Given the description of an element on the screen output the (x, y) to click on. 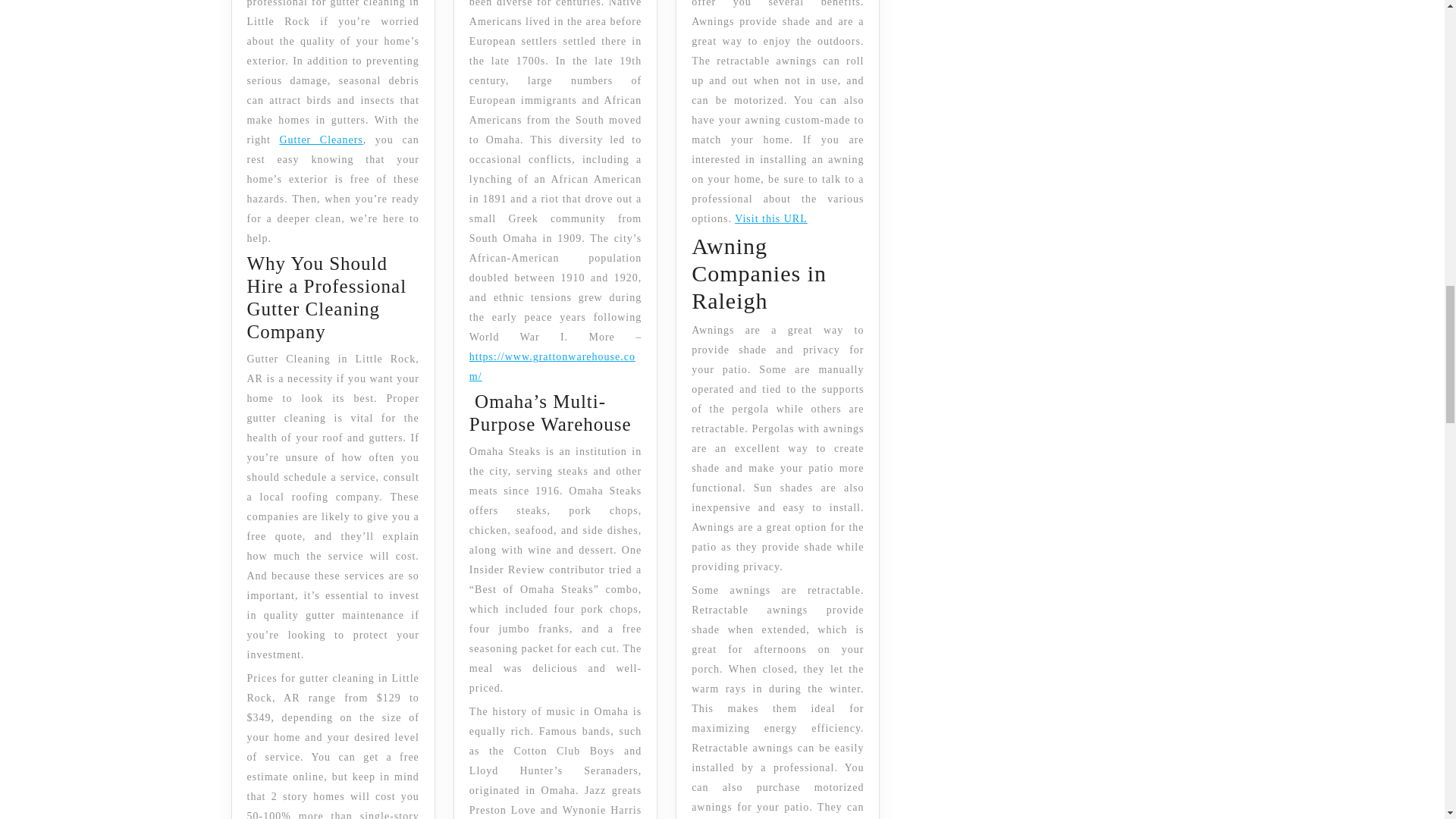
Gutter Cleaners (320, 139)
Visit this URL (771, 218)
